Given the description of an element on the screen output the (x, y) to click on. 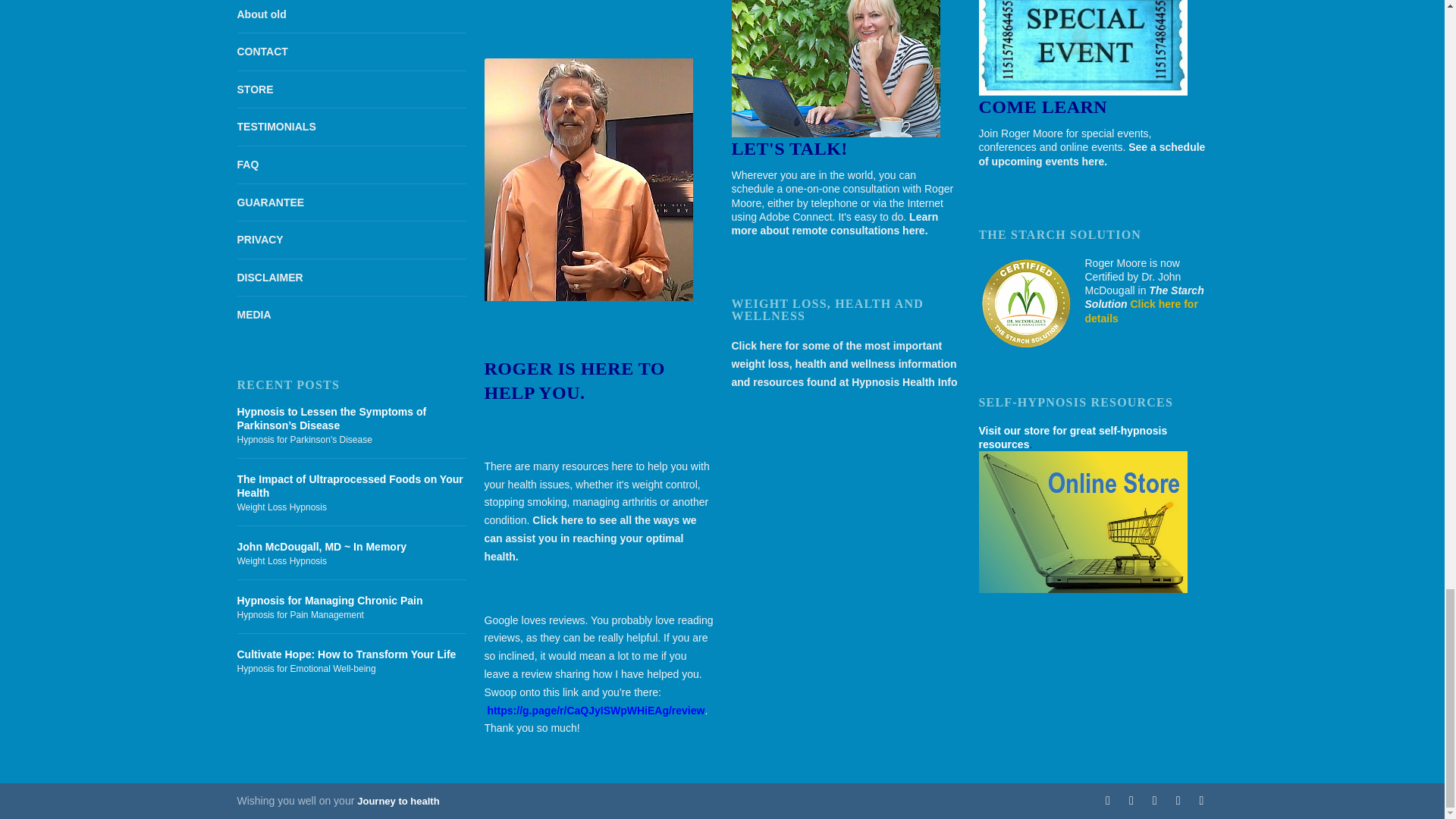
Events (1082, 47)
phone-consultaion (834, 68)
Weight loss, health and wellness links (843, 363)
